Given the description of an element on the screen output the (x, y) to click on. 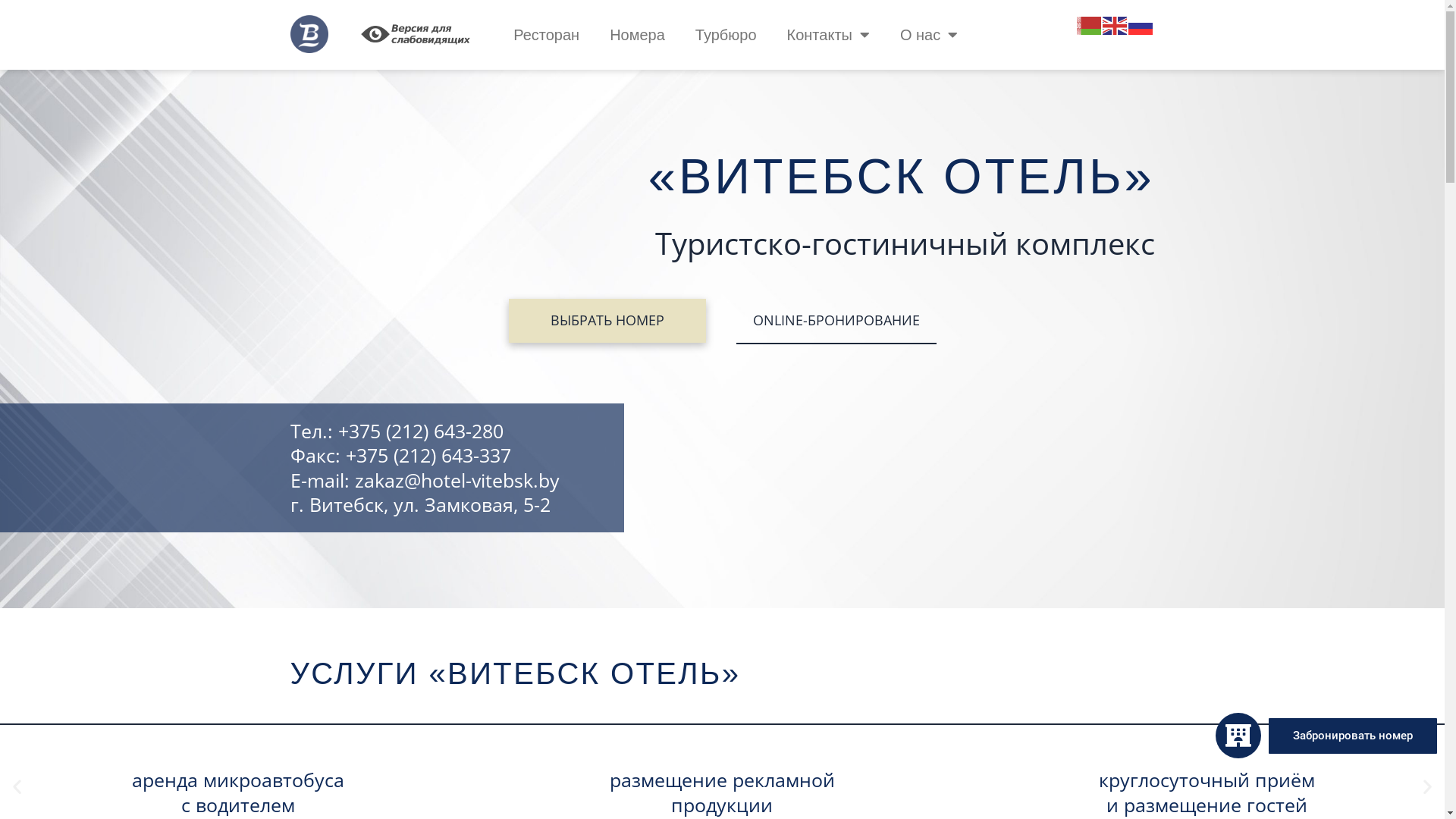
E-mail: zakaz@hotel-vitebsk.by Element type: text (456, 479)
Belarusian Element type: hover (1089, 24)
Russian Element type: hover (1141, 24)
English Element type: hover (1115, 24)
